Given the description of an element on the screen output the (x, y) to click on. 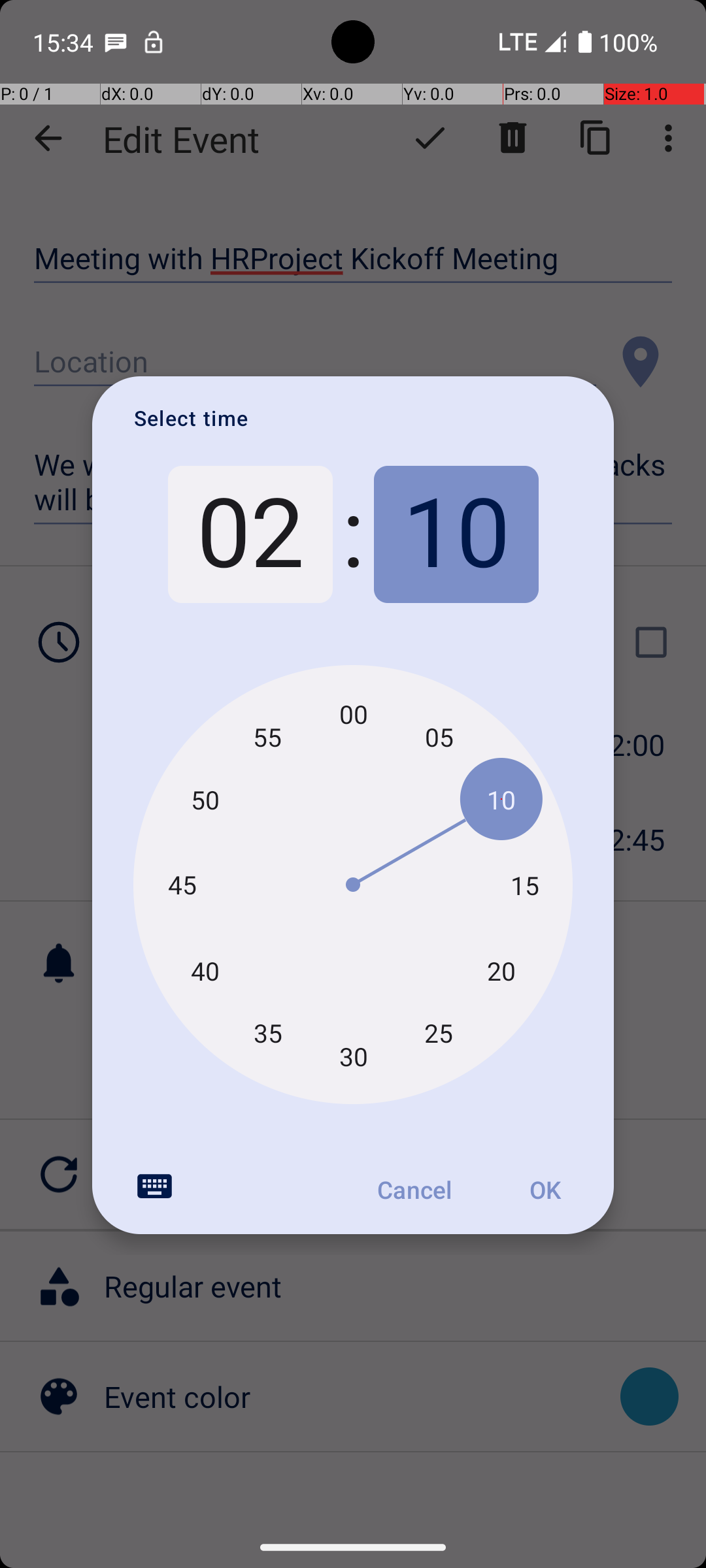
02 Element type: android.view.View (250, 534)
